Given the description of an element on the screen output the (x, y) to click on. 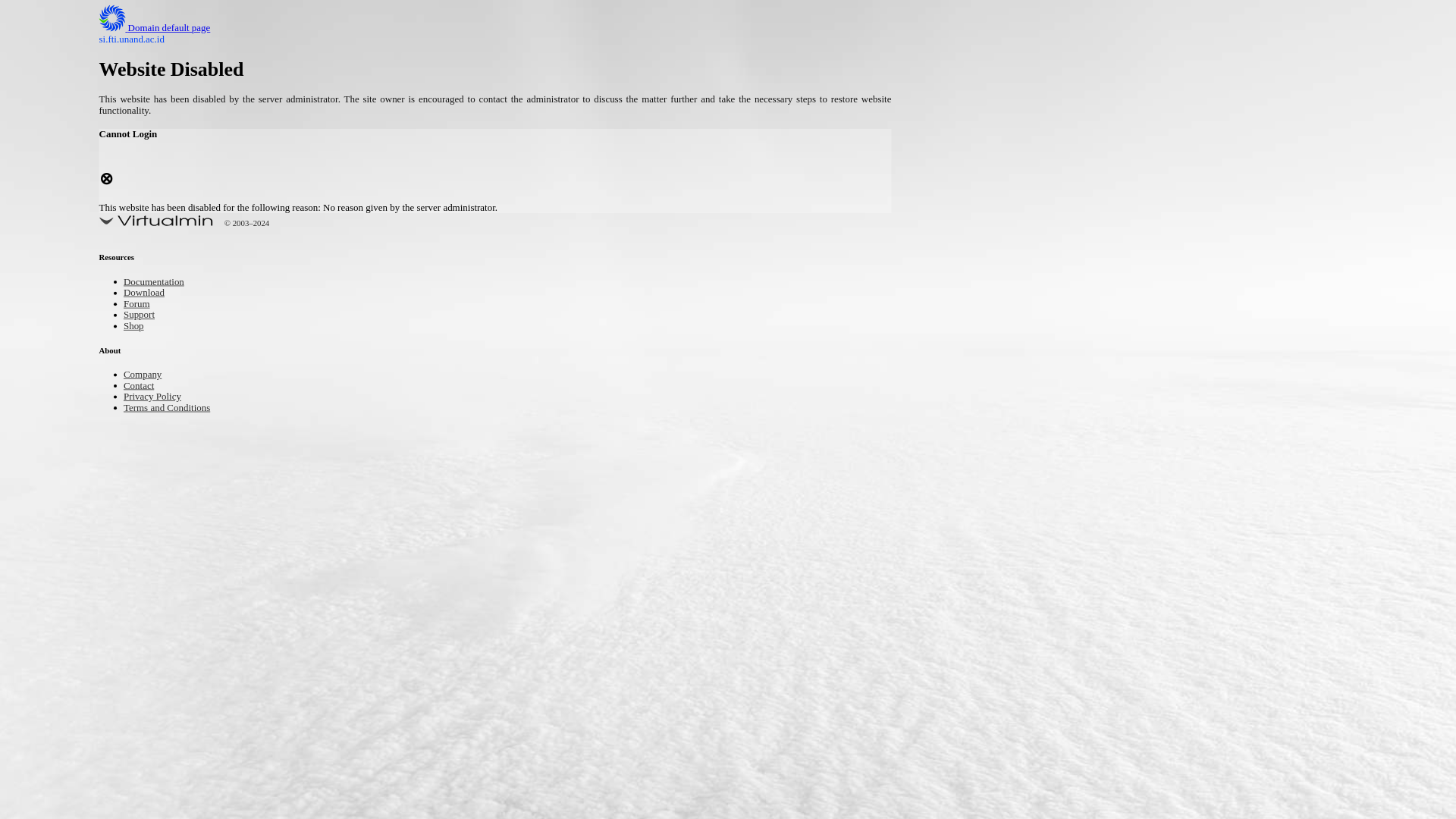
Contact (142, 386)
Support (142, 315)
Forum (139, 305)
Company (146, 374)
Download (148, 293)
Shop (135, 327)
Privacy Policy (159, 397)
Documentation (160, 282)
Domain default page (167, 29)
Terms and Conditions (176, 408)
